Given the description of an element on the screen output the (x, y) to click on. 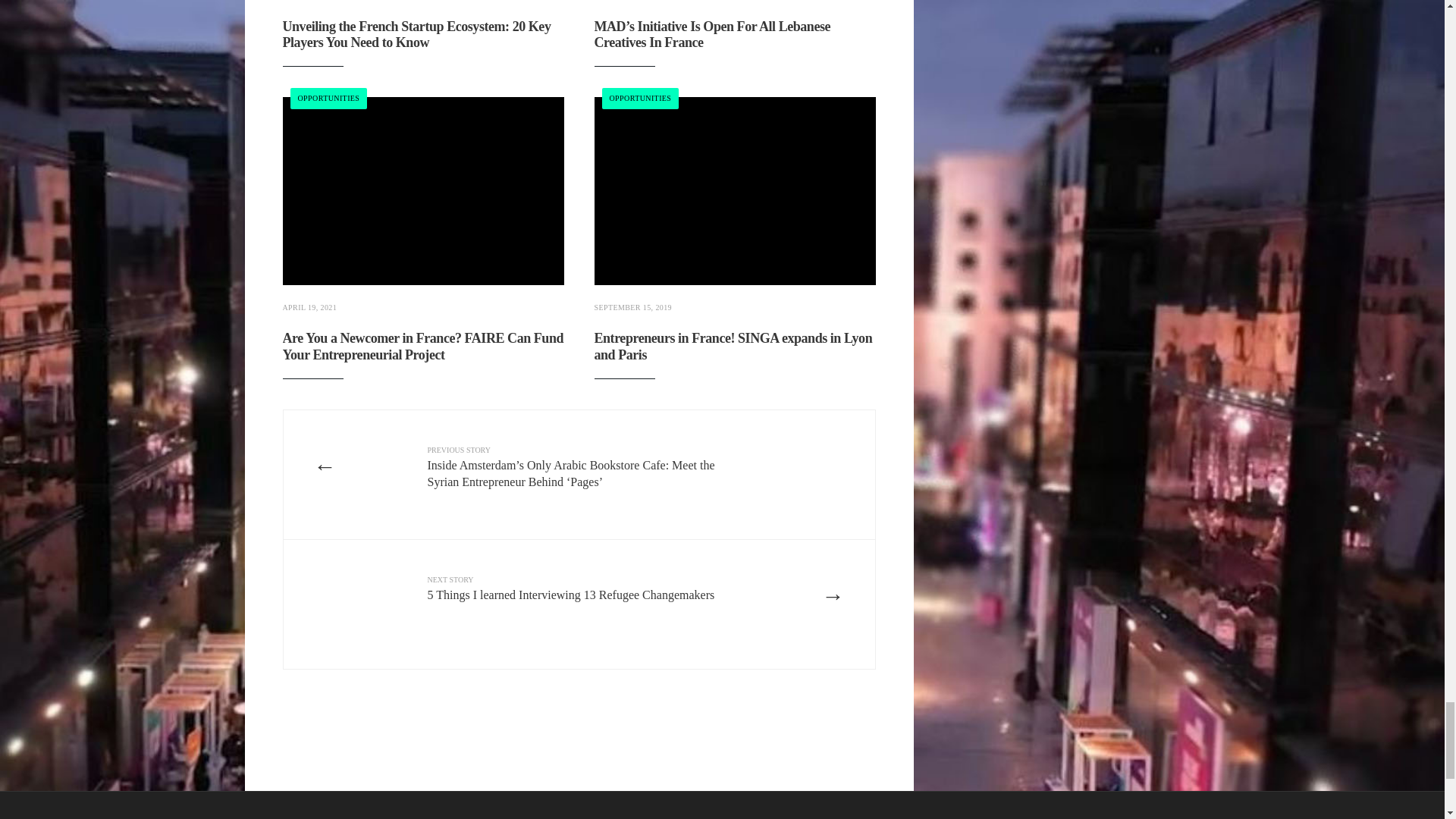
OPPORTUNITIES (640, 98)
Entrepreneurs in France! SINGA expands in Lyon and Paris (733, 346)
OPPORTUNITIES (328, 98)
